Given the description of an element on the screen output the (x, y) to click on. 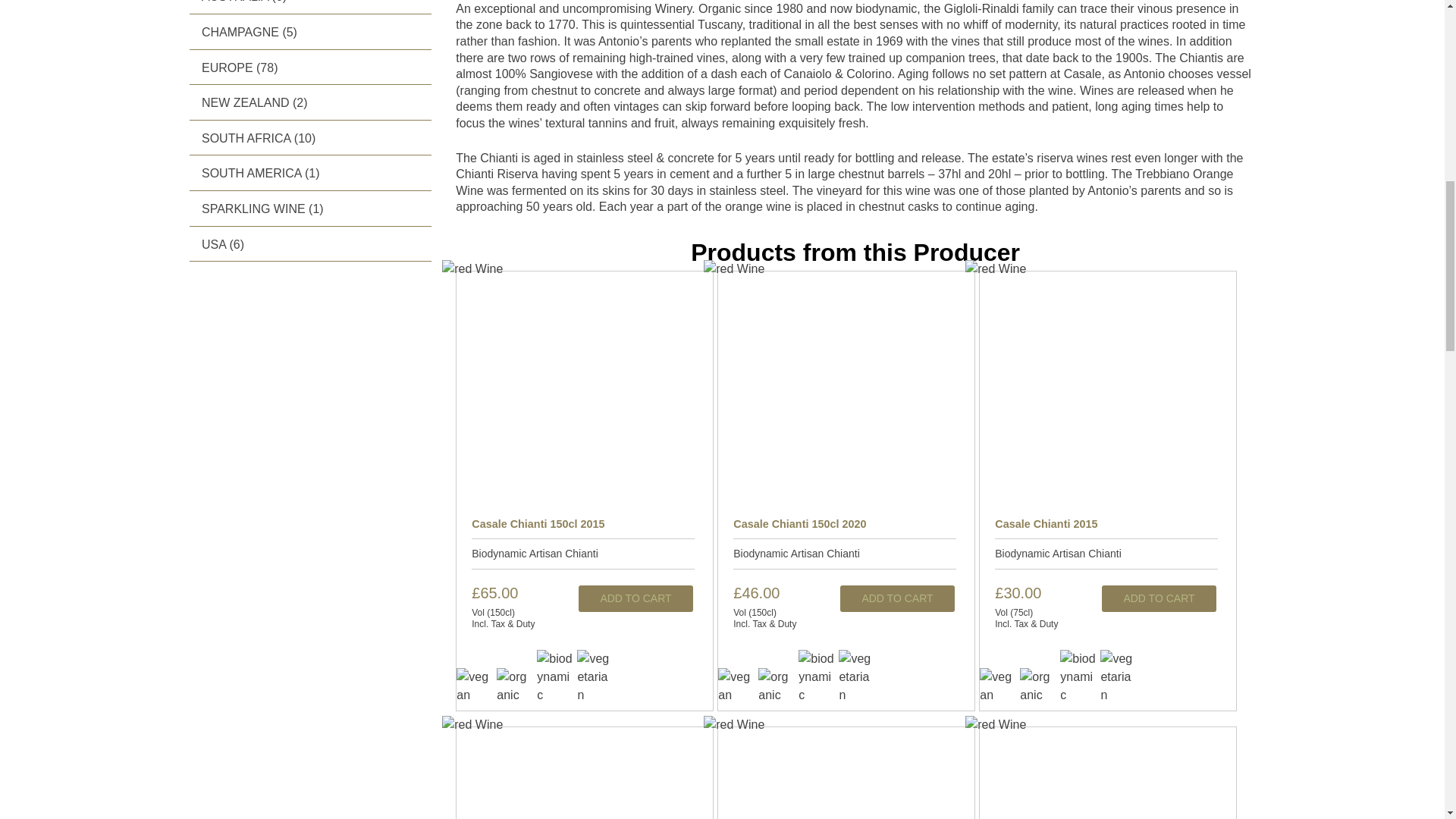
EUROPE (227, 67)
CHAMPAGNE (240, 31)
AUSTRALIA (234, 1)
